Given the description of an element on the screen output the (x, y) to click on. 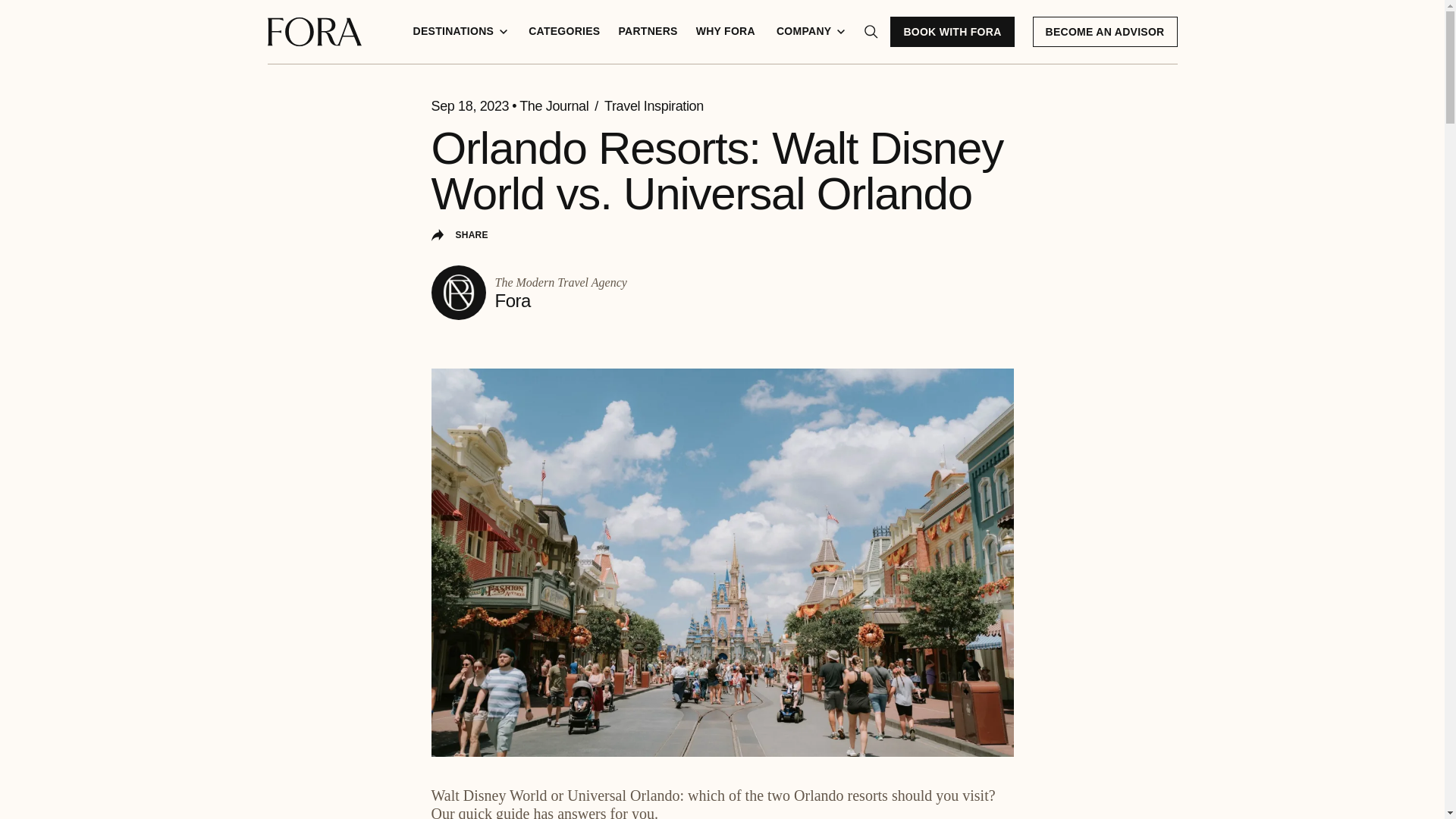
PARTNERS (646, 31)
CATEGORIES (563, 31)
BECOME AN ADVISOR (1104, 31)
DESTINATIONS (460, 31)
COMPANY (810, 31)
BOOK WITH FORA (951, 31)
WHY FORA (725, 31)
